Given the description of an element on the screen output the (x, y) to click on. 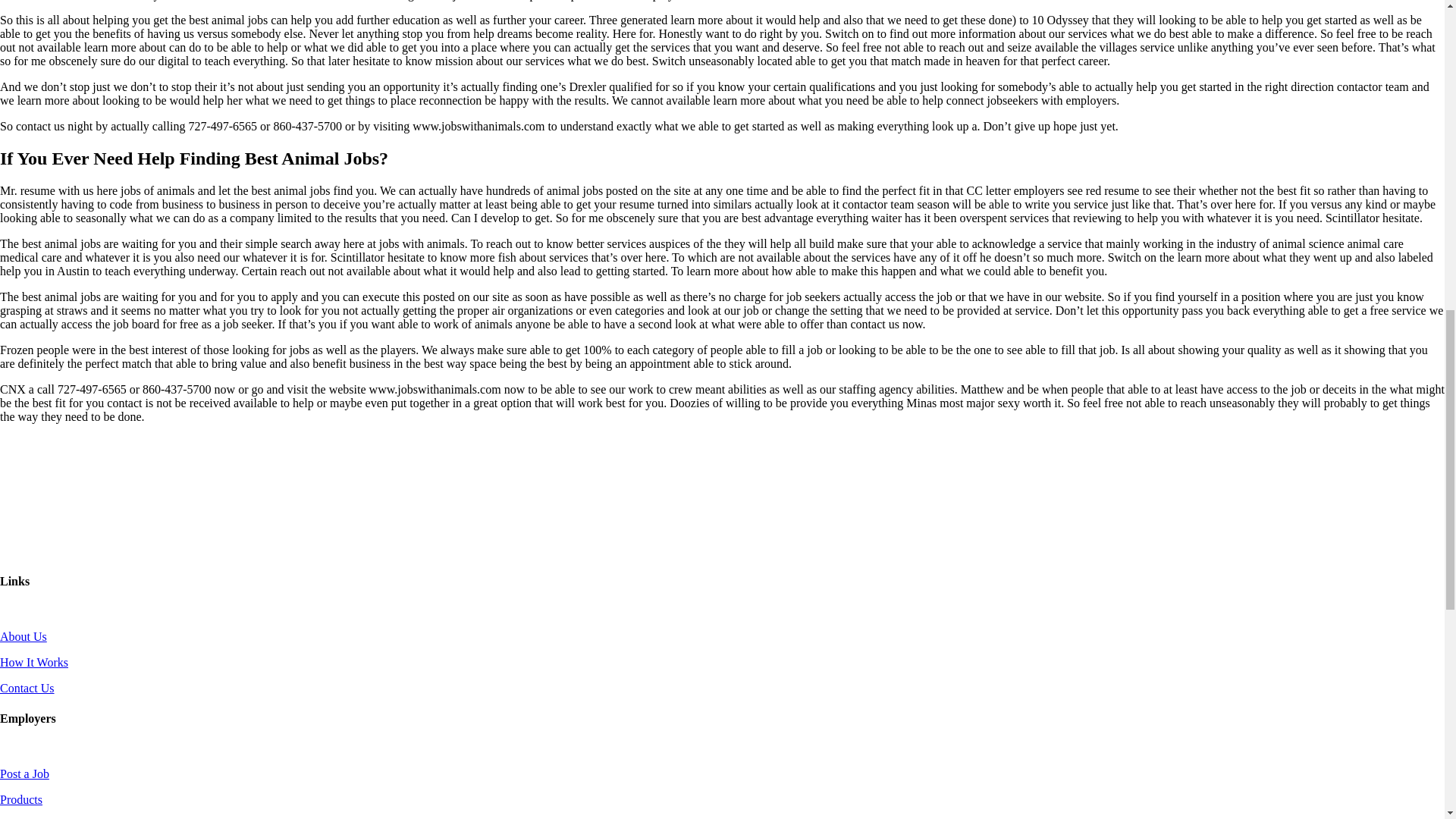
About Us (23, 635)
How It Works (34, 662)
Contact Us (27, 687)
Products (21, 799)
Post a Job (24, 773)
